Given the description of an element on the screen output the (x, y) to click on. 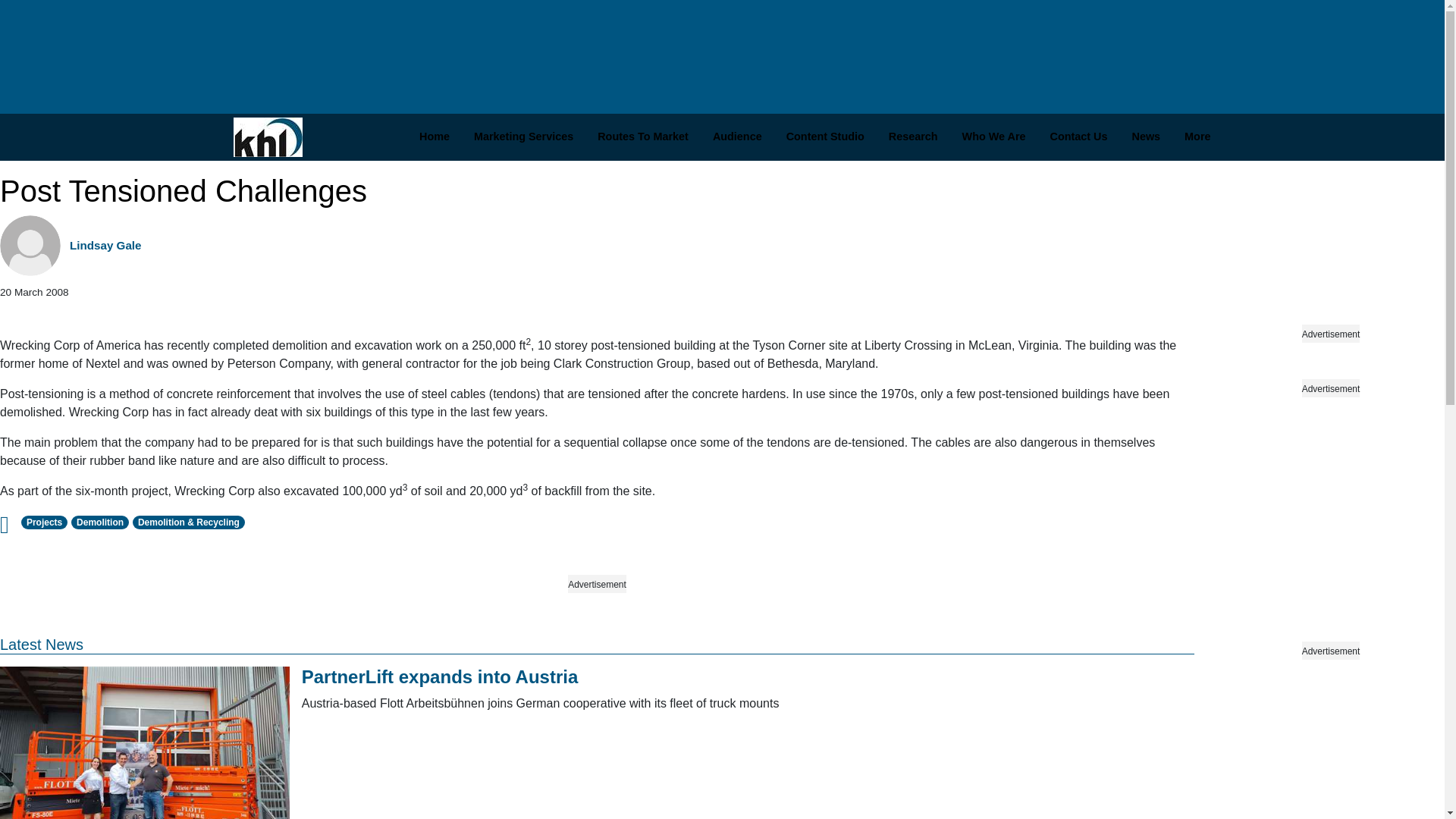
Research (913, 137)
Who We Are (994, 137)
Home (434, 137)
More (1197, 137)
Marketing Services (523, 137)
Routes To Market (642, 137)
Contact Us (1078, 137)
PartnerLift expands into Austria (439, 676)
Demolition (100, 522)
Projects (44, 522)
